Given the description of an element on the screen output the (x, y) to click on. 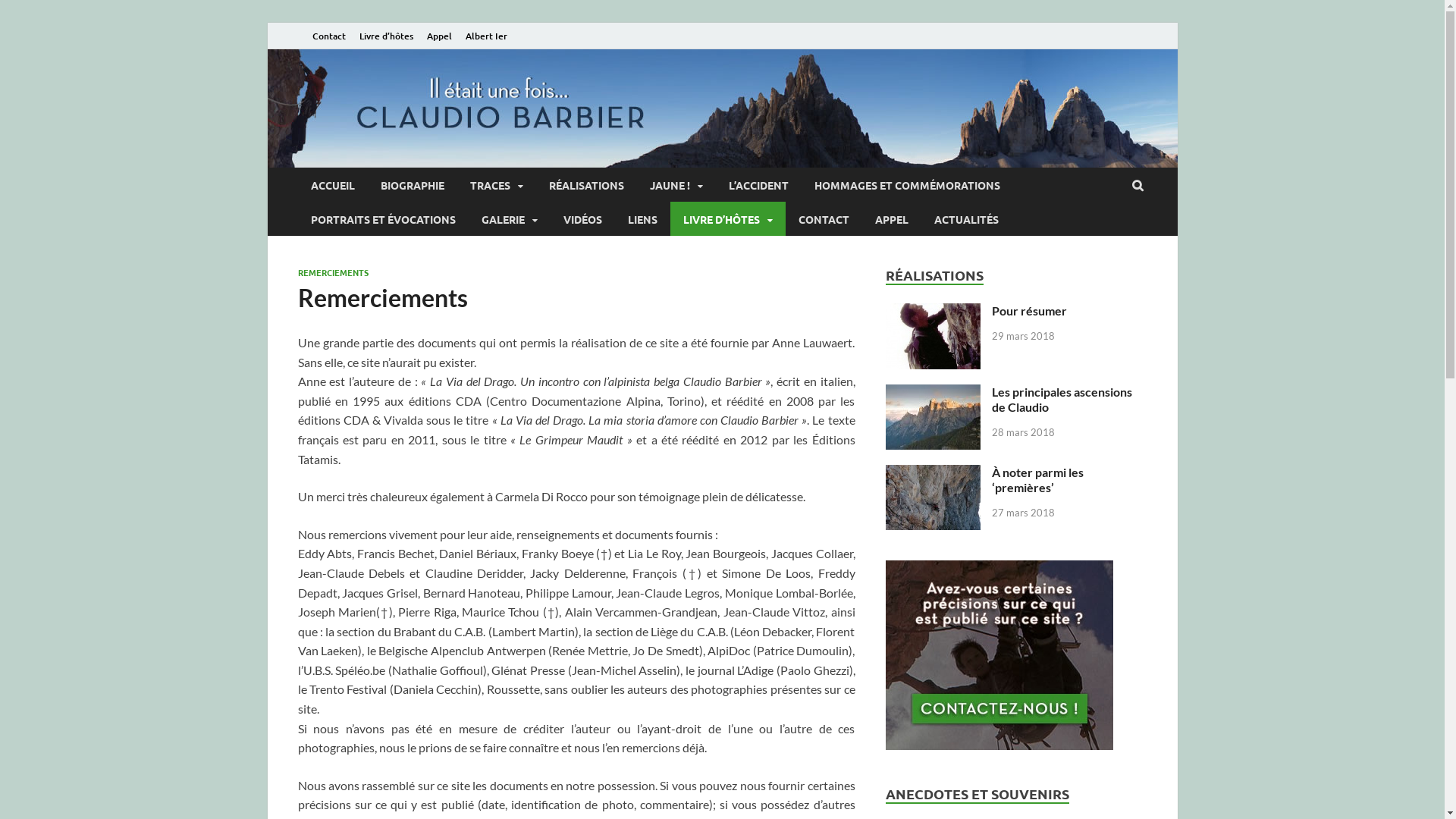
TRACES Element type: text (495, 184)
Appel Element type: text (439, 35)
APPEL Element type: text (890, 218)
Contact Element type: text (327, 35)
CONTACT Element type: text (823, 218)
Les principales ascensions de Claudio Element type: text (1061, 398)
BIOGRAPHIE Element type: text (411, 184)
Albert Ier Element type: text (485, 35)
GALERIE Element type: text (509, 218)
JAUNE ! Element type: text (676, 184)
REMERCIEMENTS Element type: text (332, 272)
ACCUEIL Element type: text (332, 184)
LIENS Element type: text (641, 218)
